Given the description of an element on the screen output the (x, y) to click on. 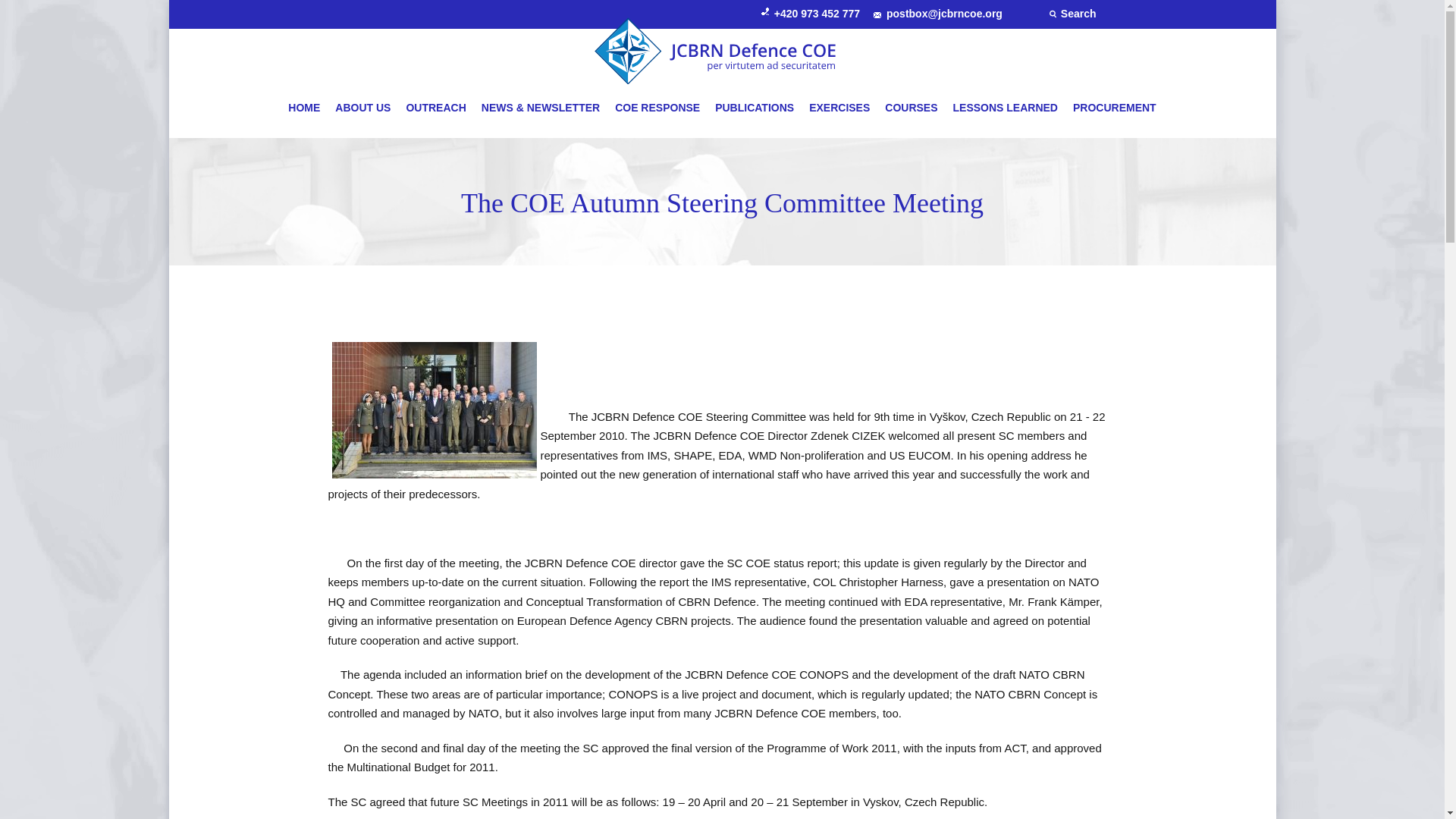
Training and Education Portal (839, 107)
ABOUT US (362, 107)
HOME (307, 107)
Search (1072, 13)
Lessons Learned Portal (1004, 107)
OUTREACH (435, 107)
